Given the description of an element on the screen output the (x, y) to click on. 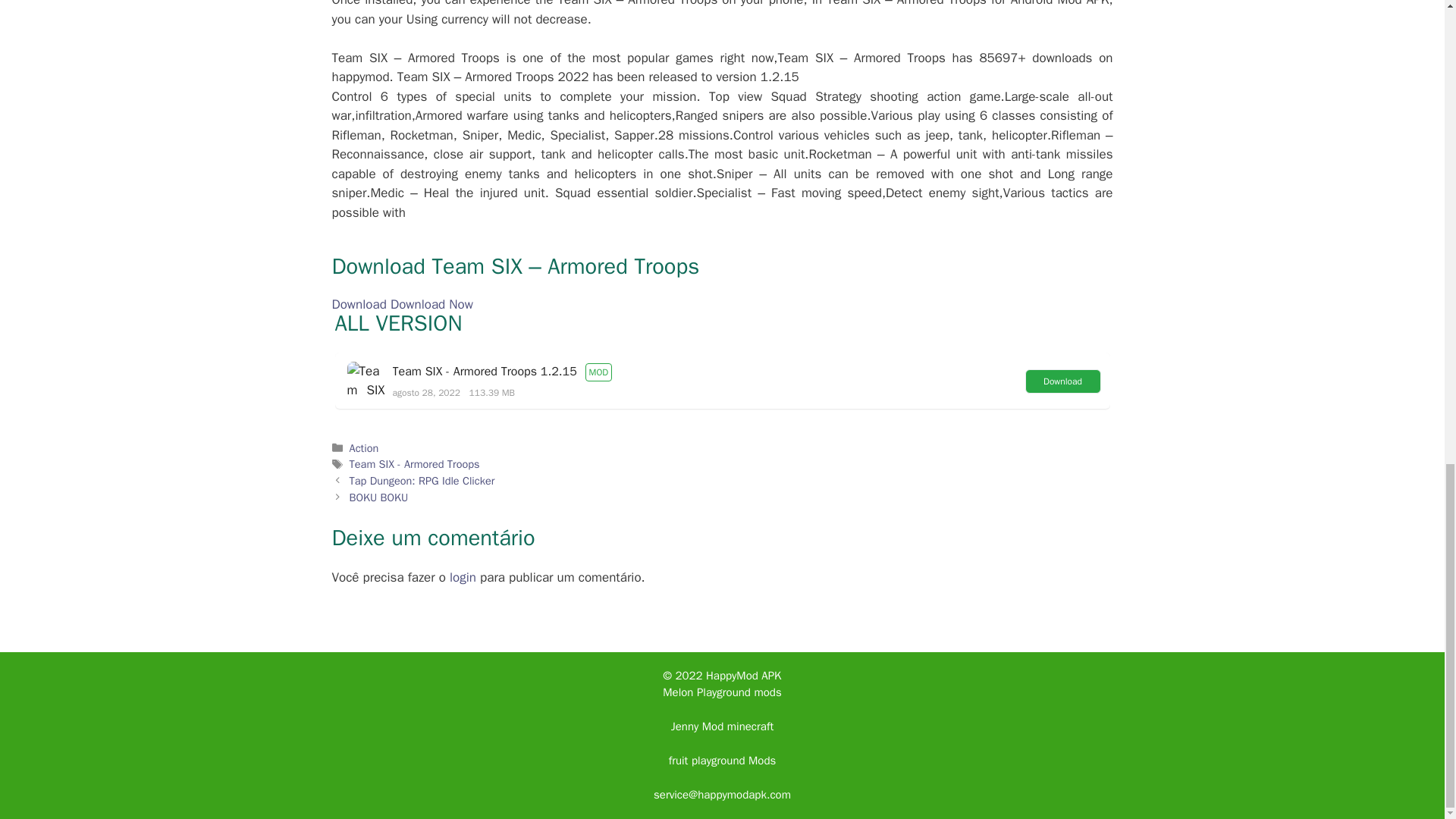
Action (363, 448)
fruit playground Mods (722, 760)
Team SIX - Armored Troops 3Happymodapk Free Download (366, 380)
Team SIX - Armored Troops (414, 463)
BOKU BOKU (379, 497)
Melon Playground mods (721, 692)
Download Download Now (402, 304)
Download (1062, 381)
Jenny Mod minecraft (722, 726)
login (462, 577)
Tap Dungeon: RPG Idle Clicker (422, 480)
